Given the description of an element on the screen output the (x, y) to click on. 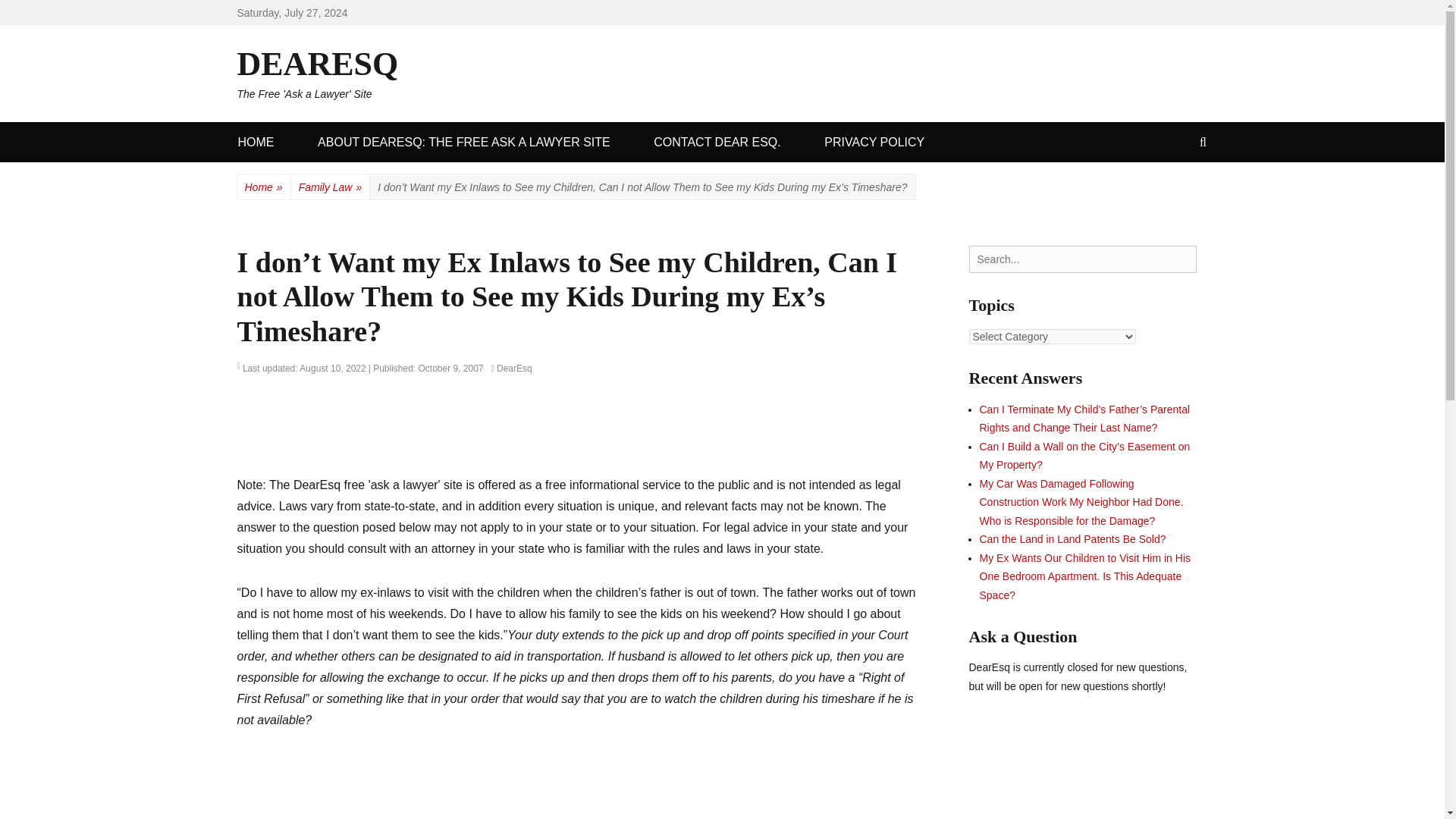
Can the Land in Land Patents Be Sold? (1072, 539)
DEARESQ (316, 63)
HOME (255, 142)
CONTACT DEAR ESQ. (717, 142)
ABOUT DEARESQ: THE FREE ASK A LAWYER SITE (464, 142)
Advertisement (359, 368)
PRIVACY POLICY (512, 433)
DearEsq (874, 142)
Search (512, 368)
Search for: (37, 18)
Search (1082, 259)
